Given the description of an element on the screen output the (x, y) to click on. 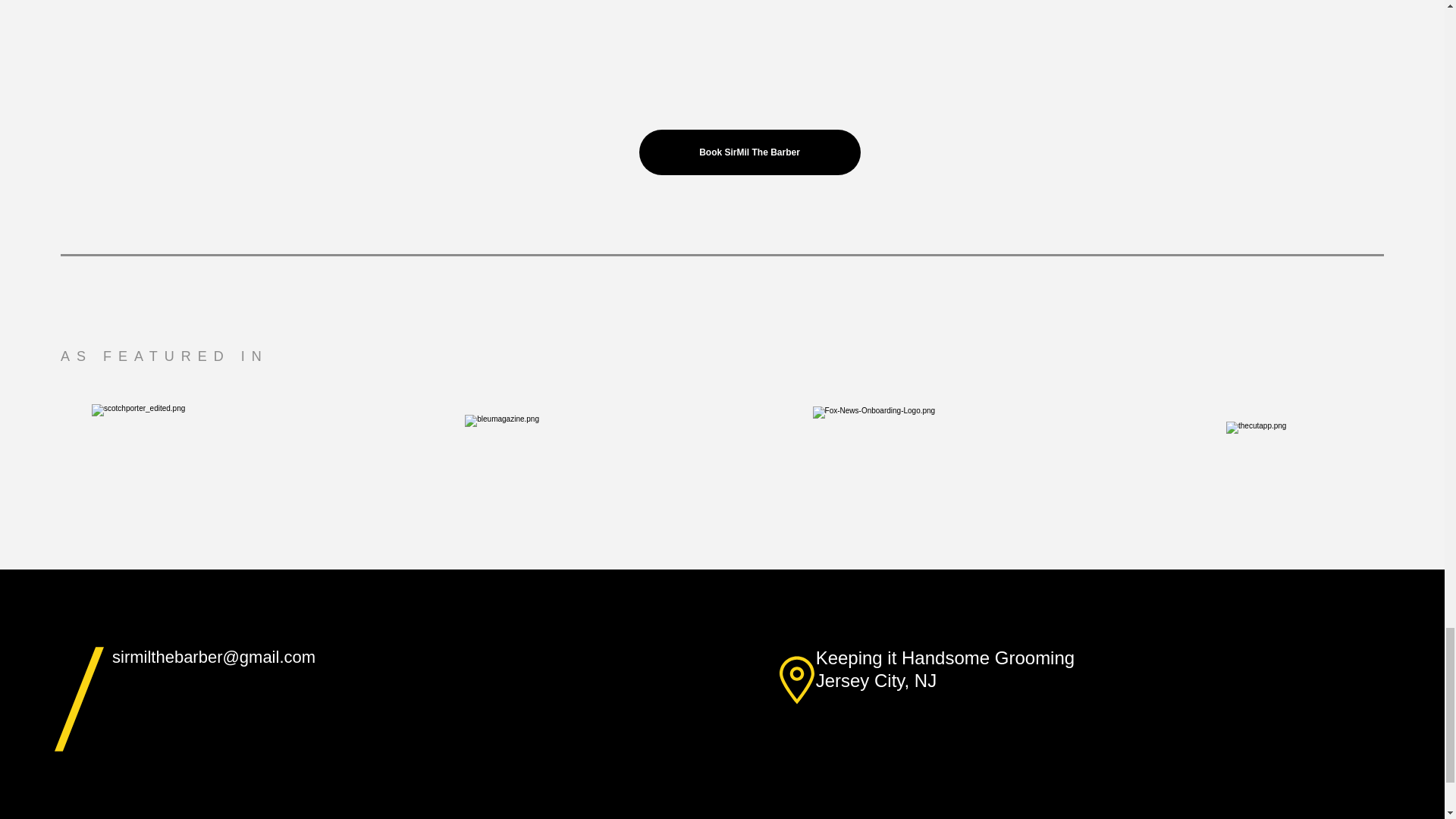
Book SirMil The Barber (749, 152)
